Given the description of an element on the screen output the (x, y) to click on. 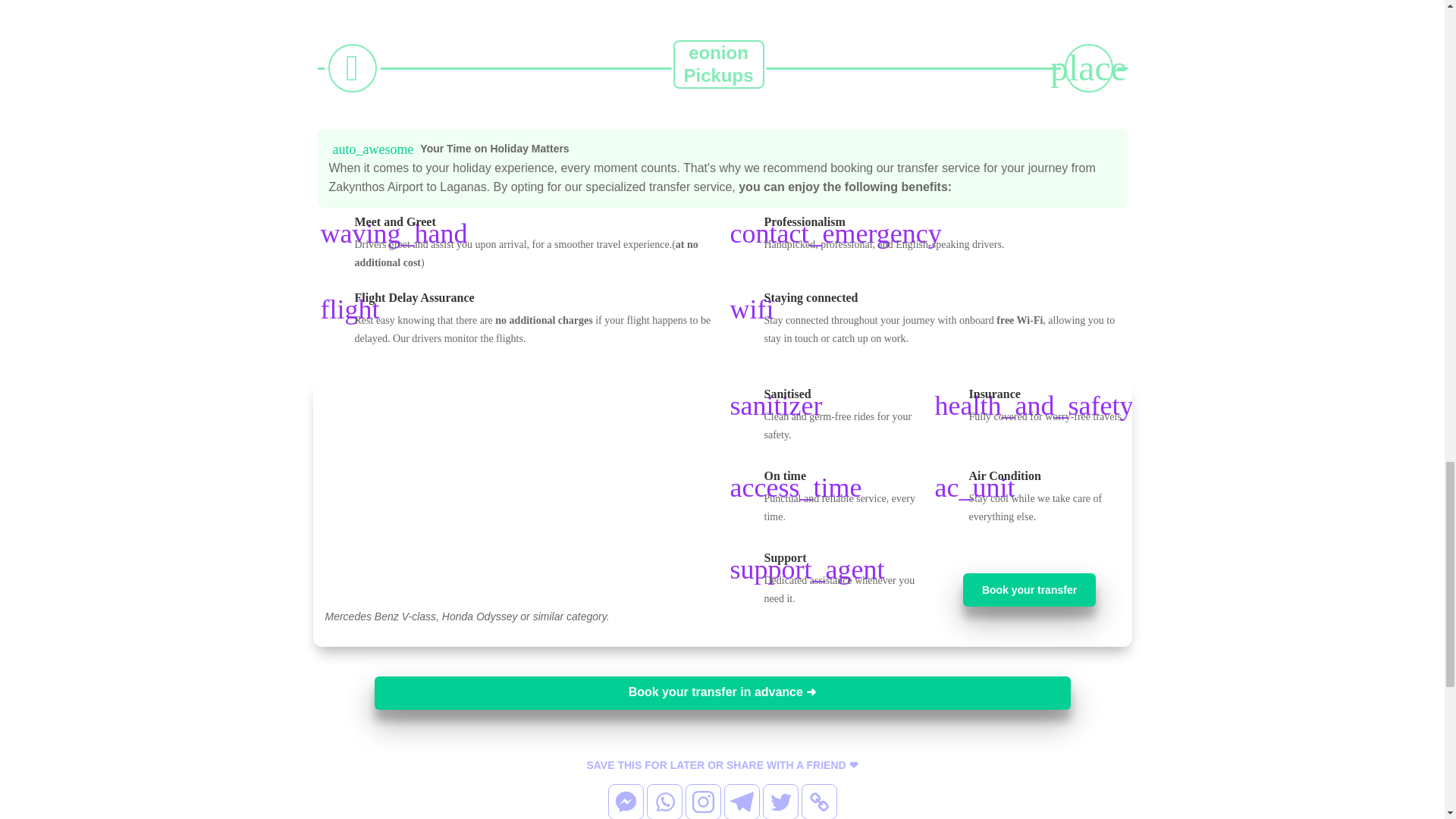
Instagram (702, 801)
Telegram (740, 801)
Copy Link (817, 801)
Twitter (779, 801)
Book your transfer (1029, 589)
Premium Van (516, 494)
ZTH Info map (544, 10)
Whatsapp (663, 801)
Book your transfer (1029, 589)
